Given the description of an element on the screen output the (x, y) to click on. 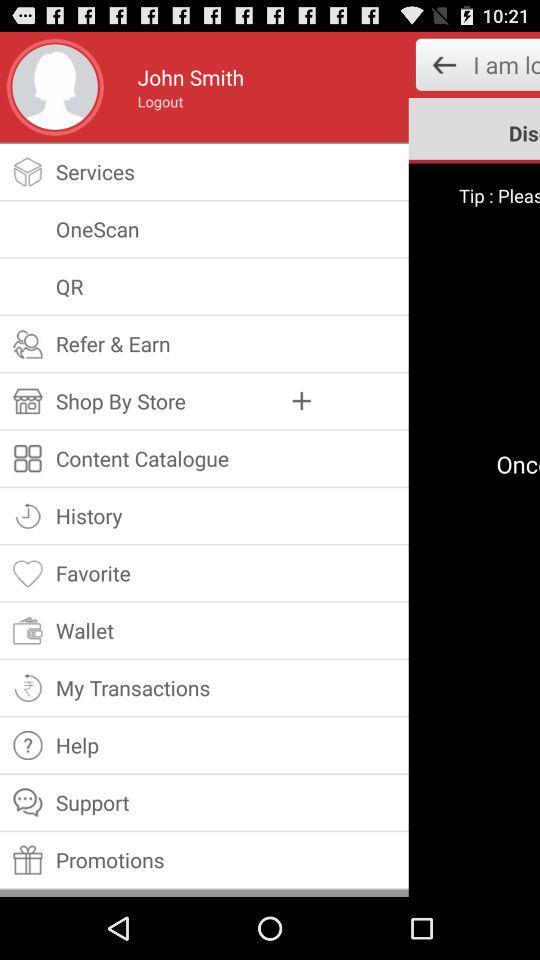
select the icon left to text favorite (28, 573)
click on the icon left side of the support option (28, 802)
select a icon which is before shop by store on a page (28, 401)
click on the symbol which is on the left side of services (28, 170)
click on the plus symbol to the right of shop by store text (302, 400)
go to left of john smith (54, 86)
select the symbol of refer  earn (28, 343)
